Given the description of an element on the screen output the (x, y) to click on. 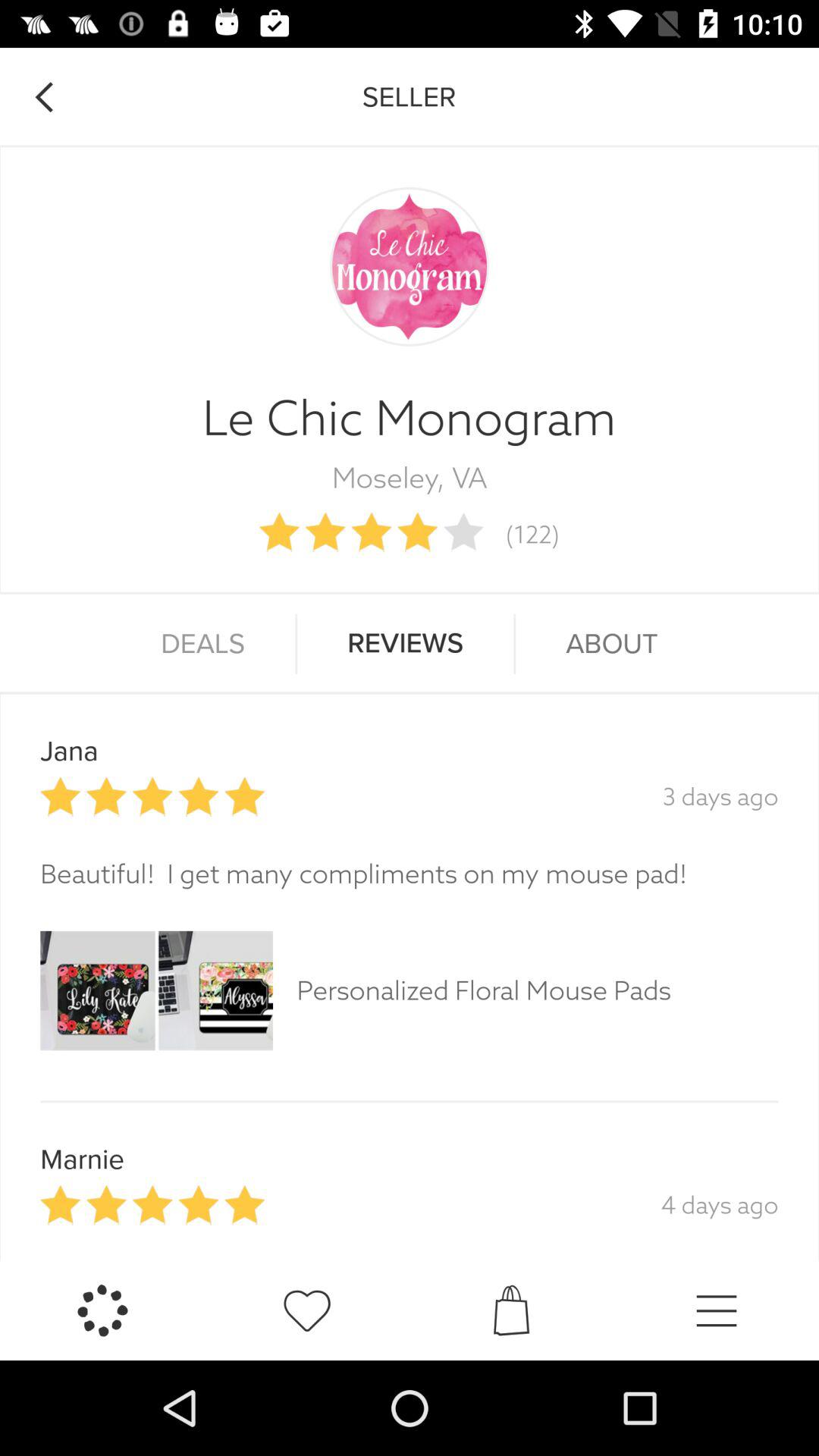
scroll until about (611, 643)
